Given the description of an element on the screen output the (x, y) to click on. 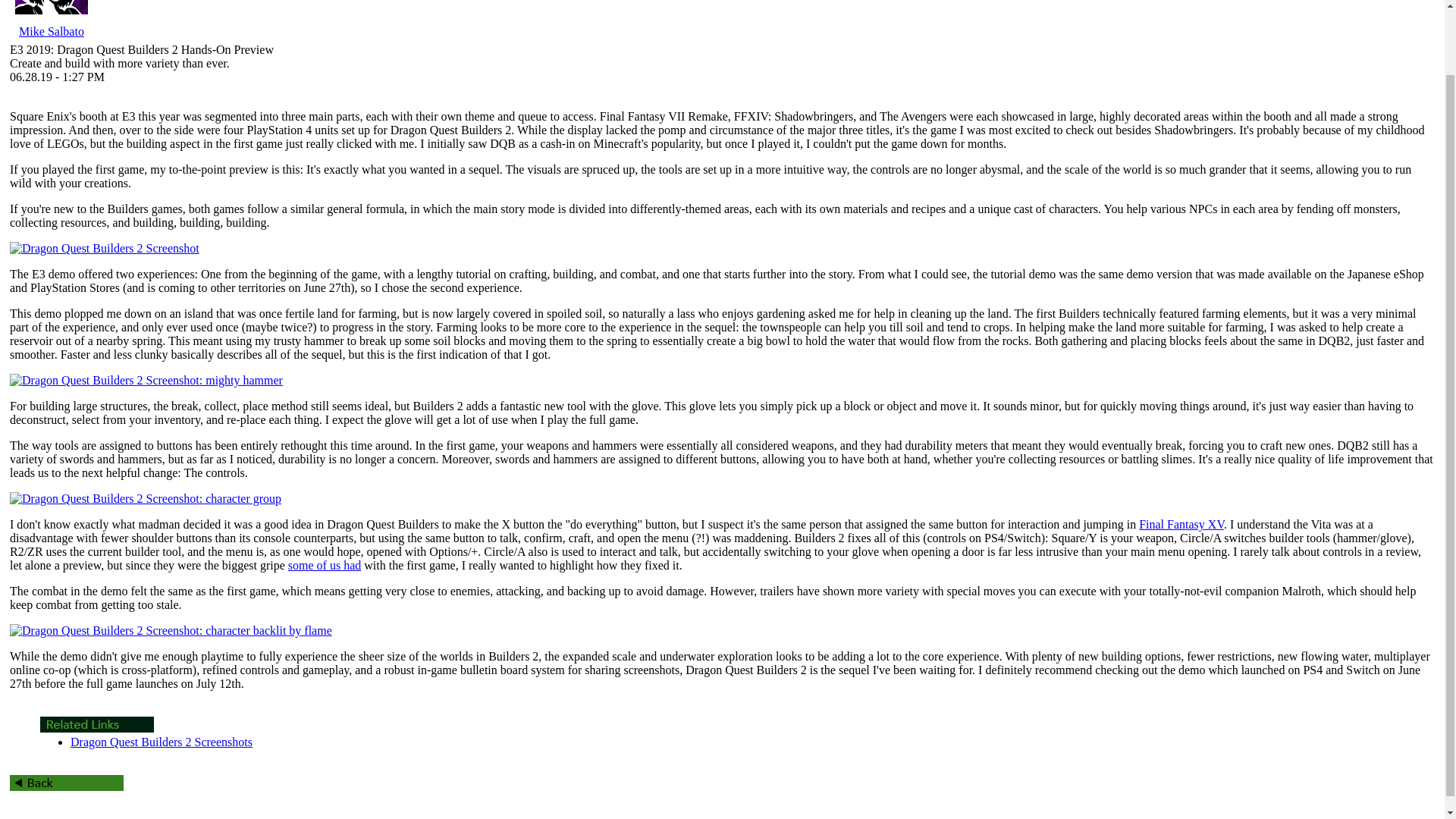
Final Fantasy XV (1181, 523)
Dragon Quest Builders 2 Screenshots (160, 741)
Mike Salbato (51, 31)
some of us had (324, 564)
